Given the description of an element on the screen output the (x, y) to click on. 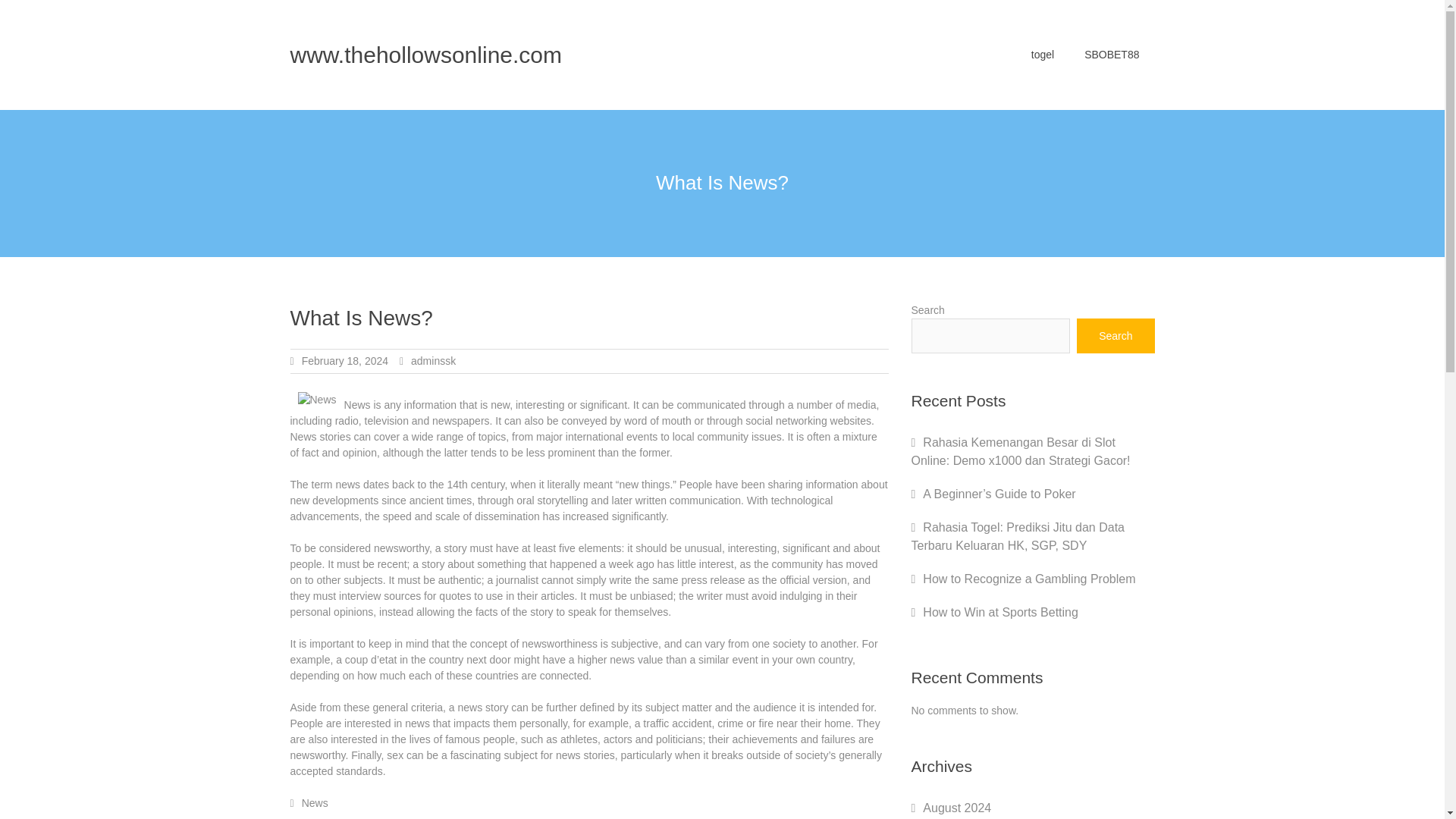
www.thehollowsonline.com (425, 54)
August 2024 (957, 807)
SBOBET88 (1111, 55)
How to Win at Sports Betting (1000, 612)
February 18, 2024 (344, 360)
How to Recognize a Gambling Problem (1029, 578)
adminssk (432, 360)
Search (1115, 335)
News (315, 802)
togel (1042, 55)
